Given the description of an element on the screen output the (x, y) to click on. 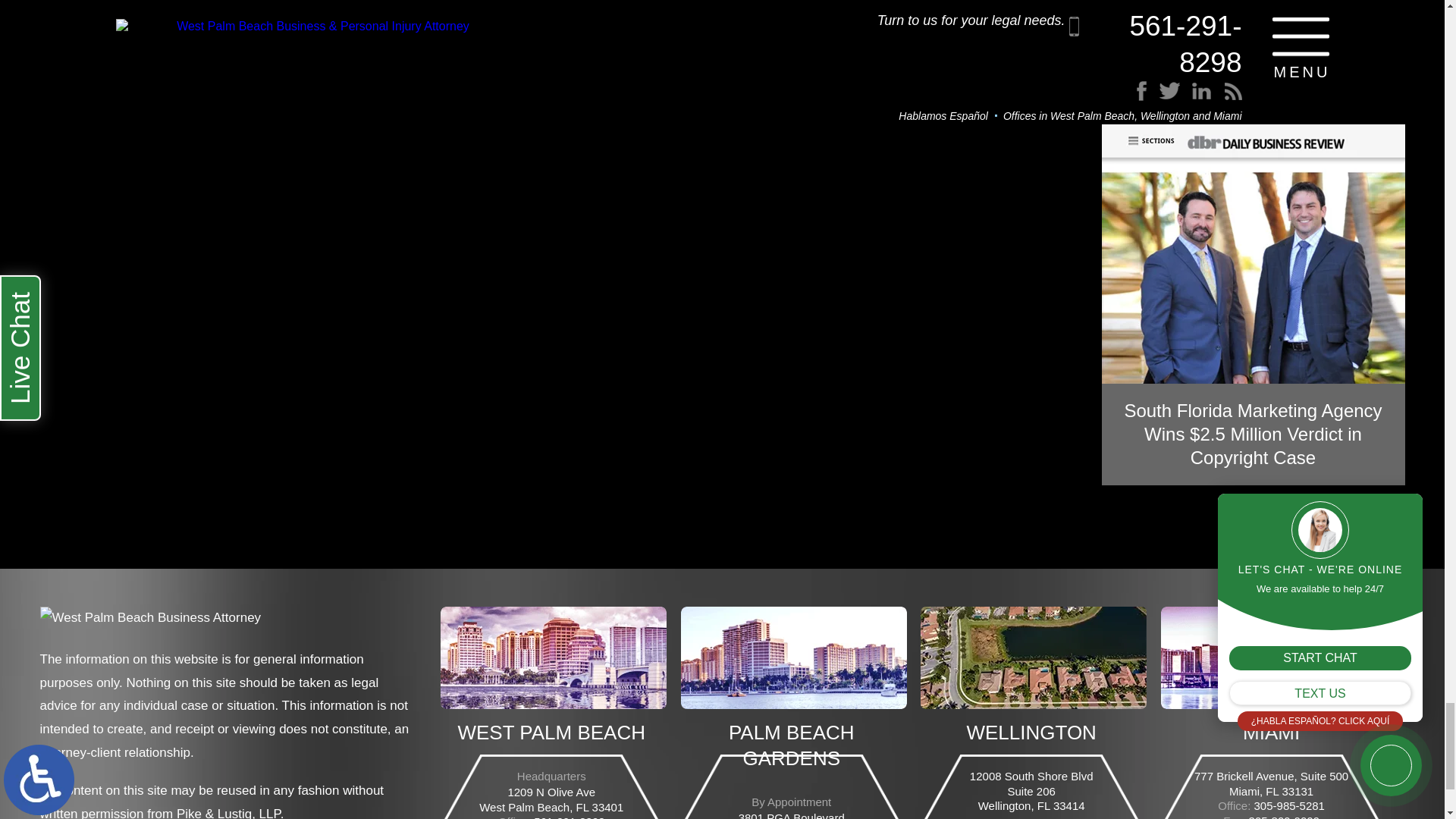
West Palm Beach (553, 657)
Palm Beach Gardens (794, 657)
Miami (1273, 657)
Wellington (1033, 657)
West Palm Beach Business Attorney (149, 623)
